Given the description of an element on the screen output the (x, y) to click on. 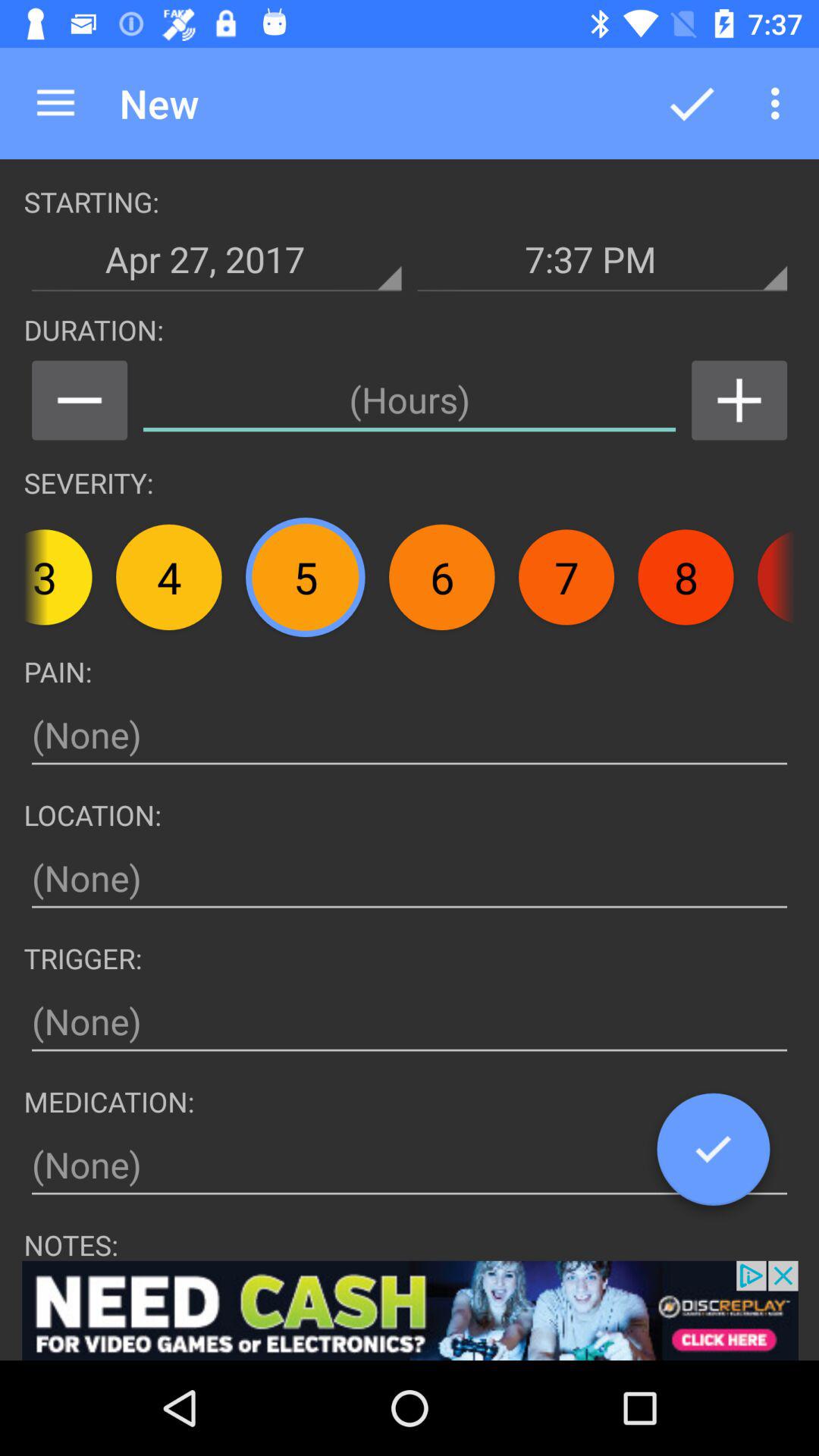
enter location (409, 878)
